Given the description of an element on the screen output the (x, y) to click on. 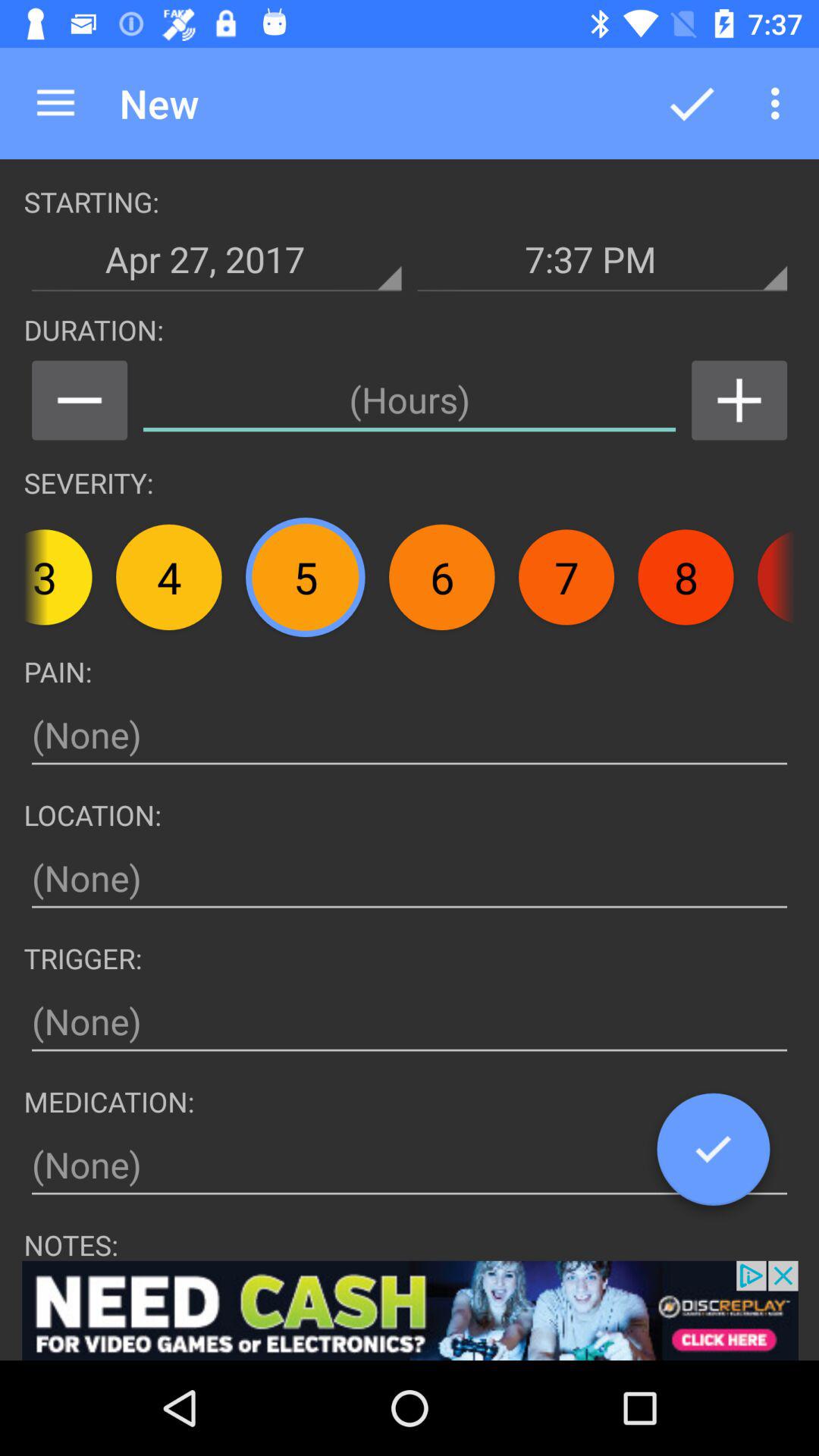
enter location (409, 878)
